Given the description of an element on the screen output the (x, y) to click on. 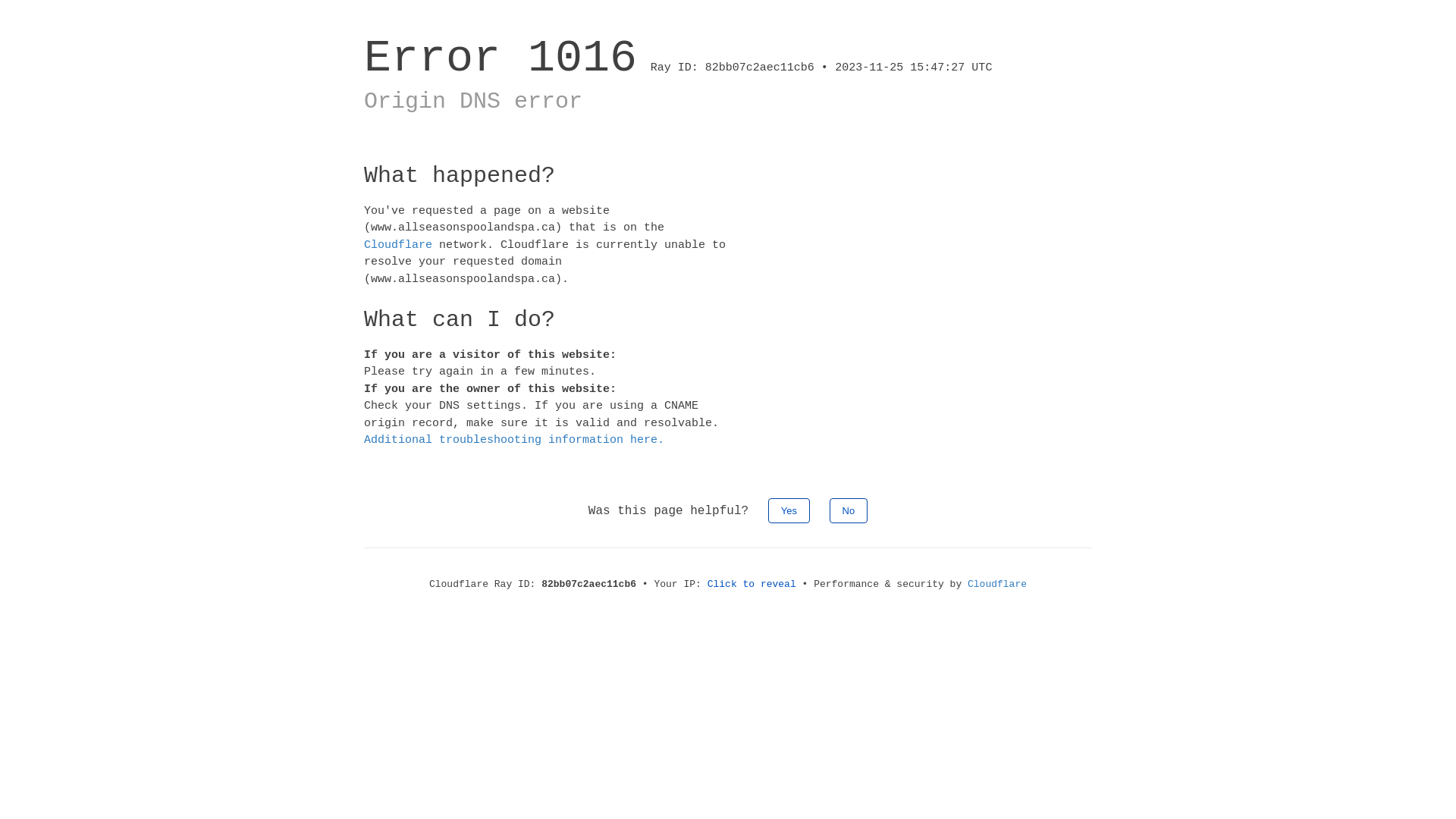
Cloudflare Element type: text (996, 583)
Additional troubleshooting information here. Element type: text (514, 439)
Click to reveal Element type: text (751, 583)
No Element type: text (848, 509)
Yes Element type: text (788, 509)
Cloudflare Element type: text (398, 244)
